Given the description of an element on the screen output the (x, y) to click on. 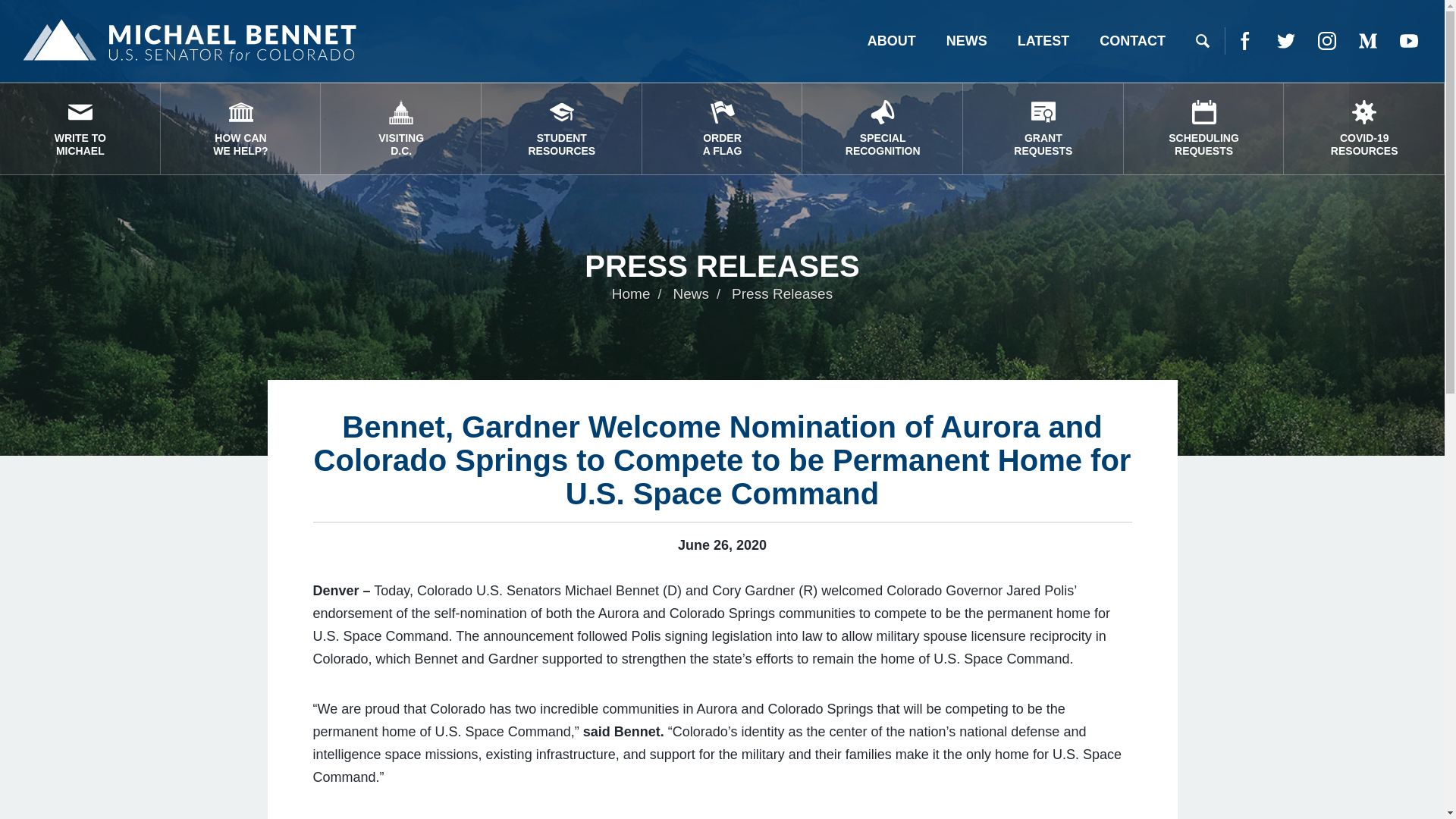
Medium Icon (240, 128)
NEWS (1367, 40)
Twitter Icon (967, 40)
ABOUT (400, 128)
Facebook Icon (1285, 40)
